Given the description of an element on the screen output the (x, y) to click on. 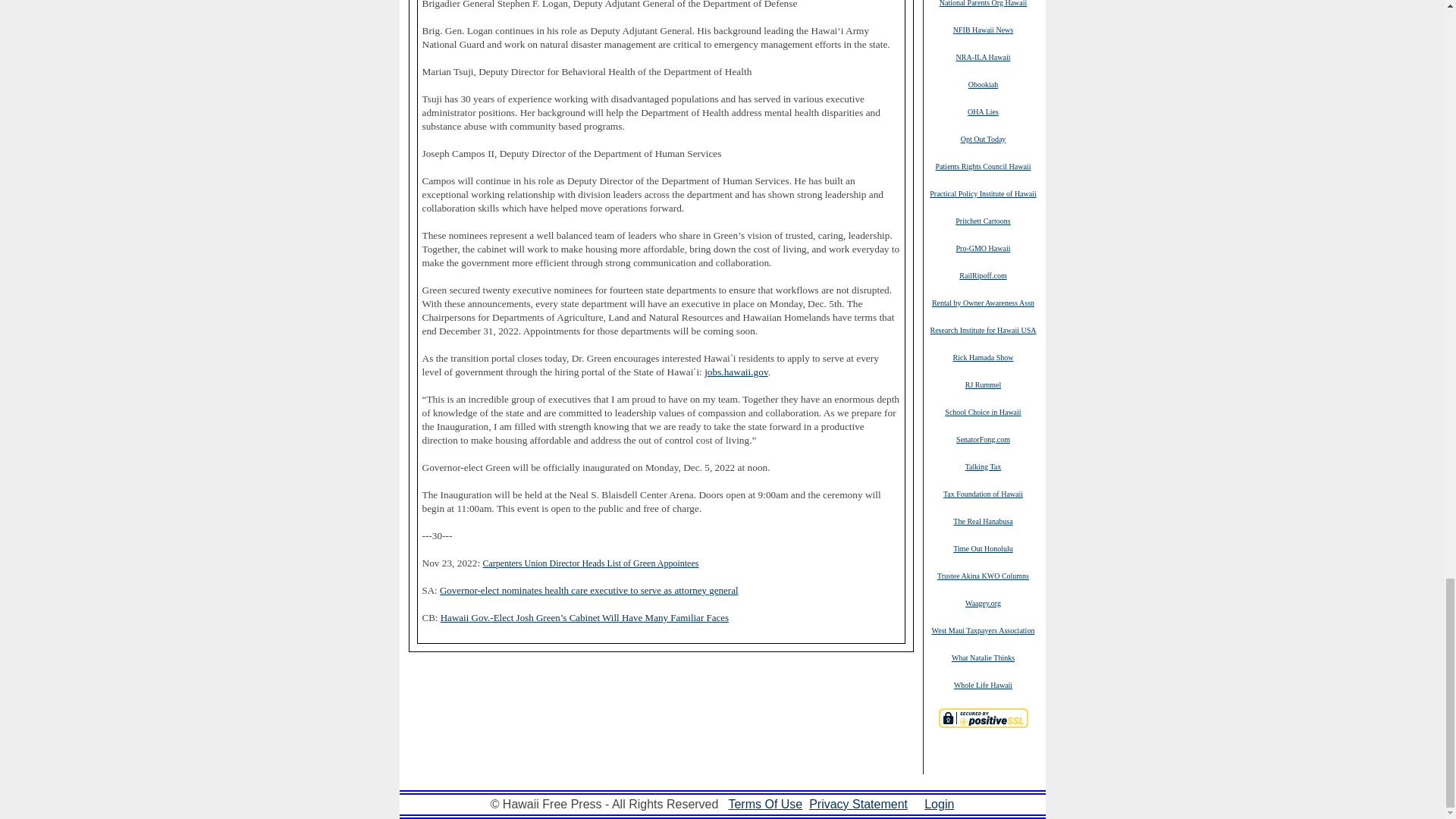
Carpenters Union Director Heads List of Green Appointees (589, 562)
jobs.hawaii.gov (736, 371)
Login (938, 803)
